Given the description of an element on the screen output the (x, y) to click on. 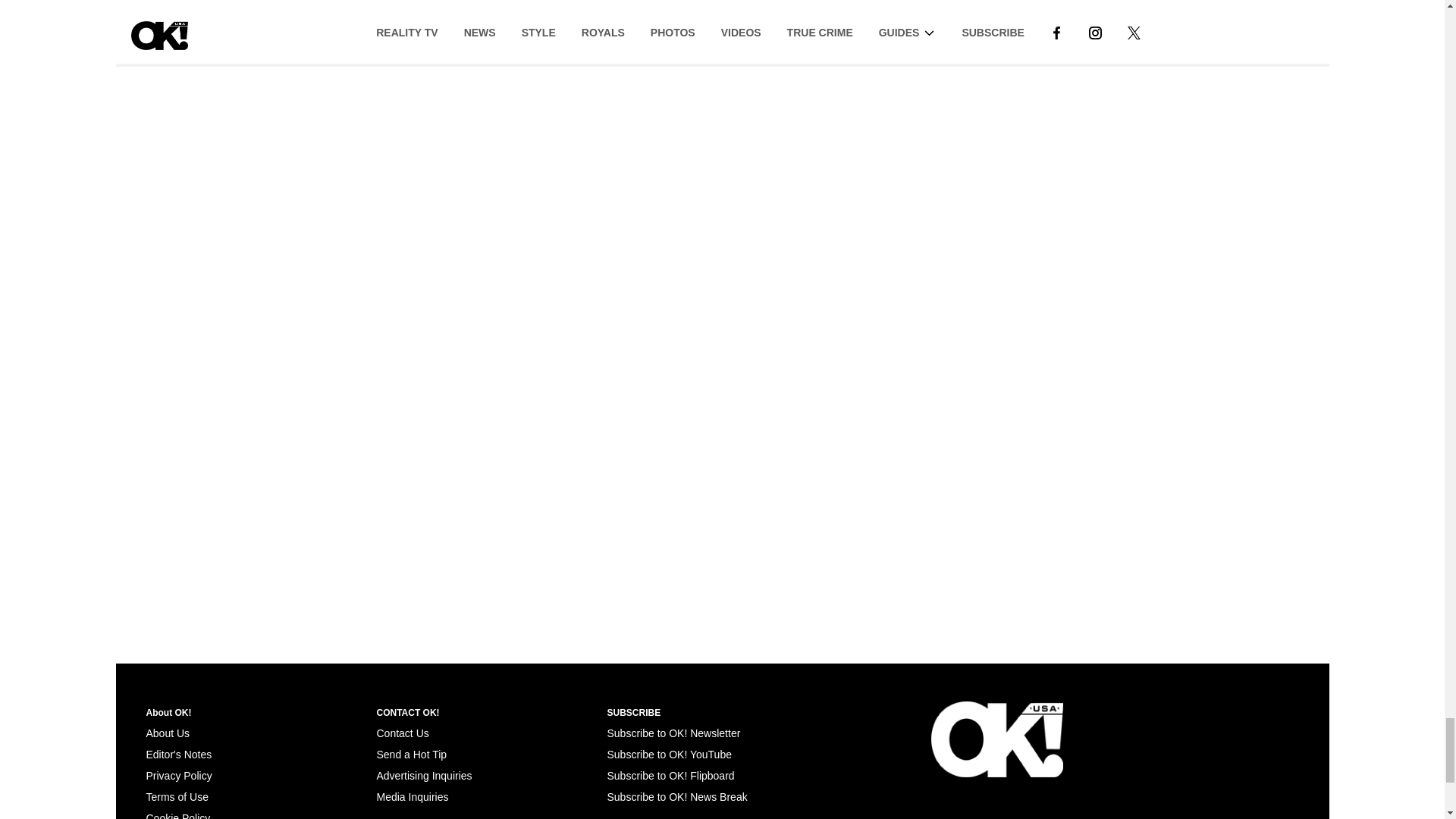
Editor's Notes (178, 754)
Contact Us (401, 733)
About Us (167, 733)
Cookie Policy (177, 815)
Terms of Use (176, 797)
Send a Hot Tip (410, 754)
Privacy Policy (178, 775)
